Given the description of an element on the screen output the (x, y) to click on. 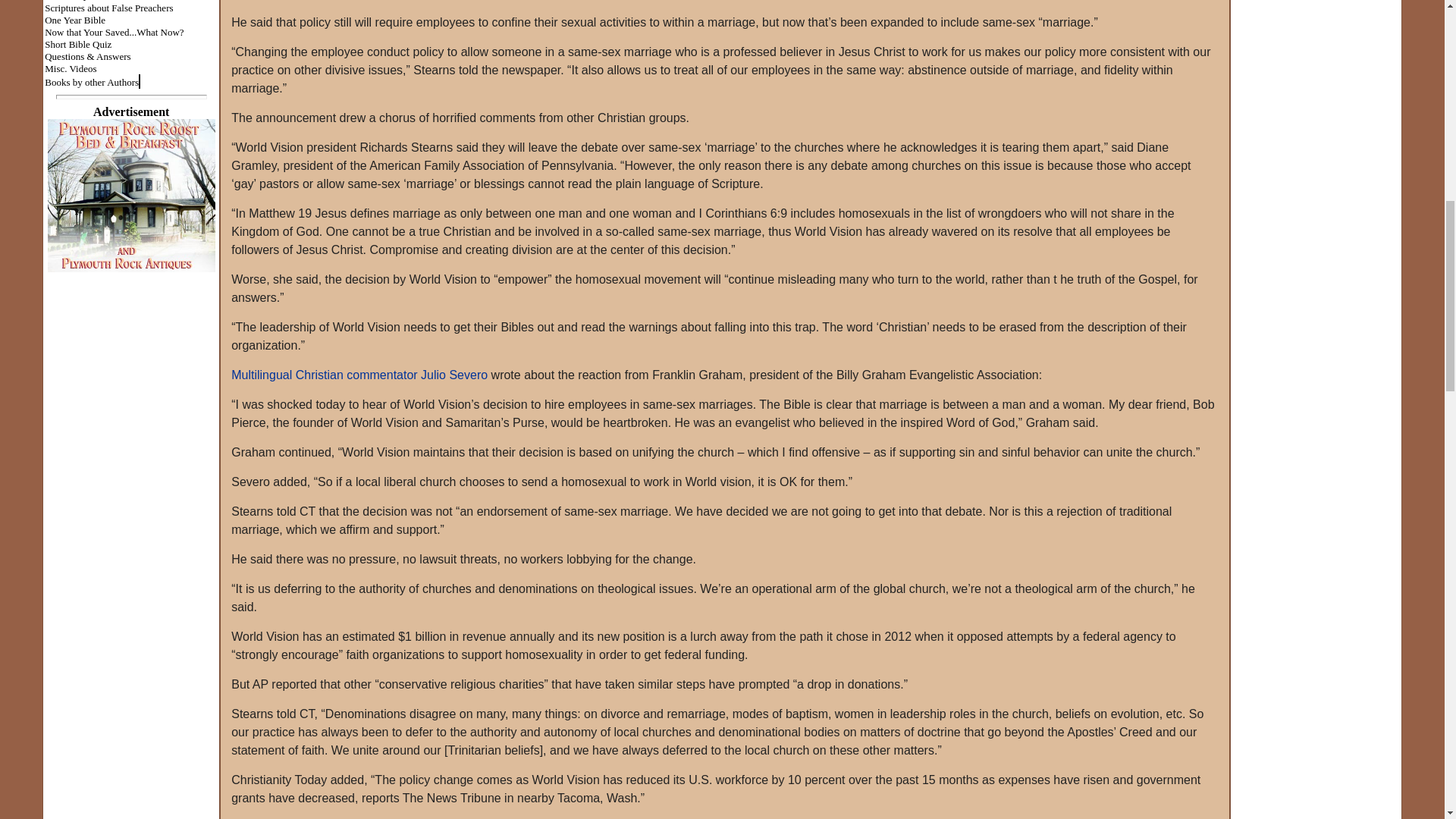
One Year Bible (74, 19)
Misc. Videos (70, 67)
Famous Quotes (75, 0)
Short Bible Quiz (78, 42)
Scriptures about False Preachers (109, 6)
Multilingual Christian commentator Julio Severo (359, 374)
Books by other Authors (91, 81)
Now that Your Saved...What Now? (114, 31)
